Given the description of an element on the screen output the (x, y) to click on. 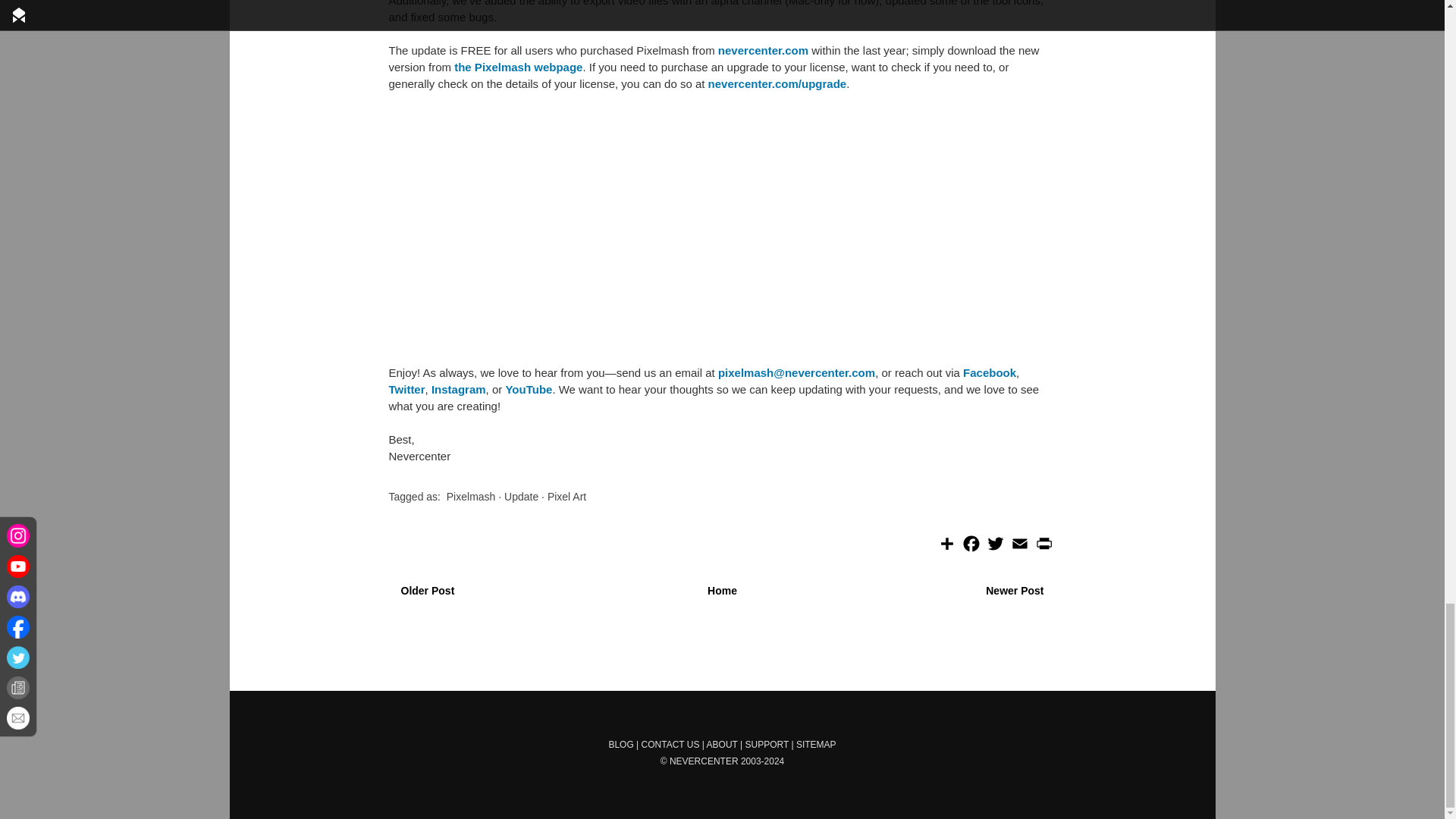
YouTube video player (600, 228)
